Given the description of an element on the screen output the (x, y) to click on. 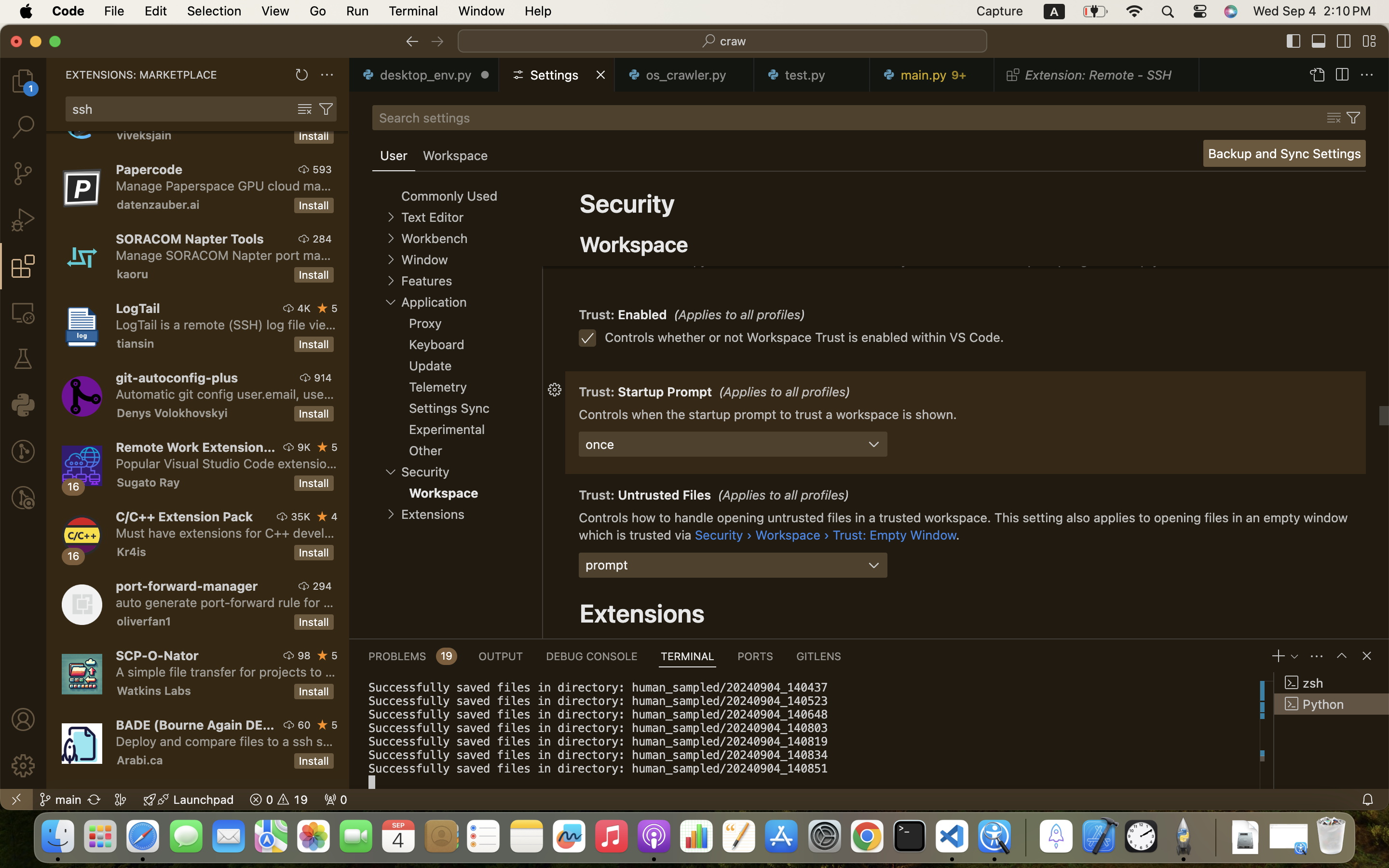
0  Element type: AXRadioButton (23, 80)
9K Element type: AXStaticText (303, 446)
 Element type: AXCheckBox (1318, 41)
Denys Volokhovskyi Element type: AXStaticText (171, 412)
4K Element type: AXStaticText (303, 307)
